Given the description of an element on the screen output the (x, y) to click on. 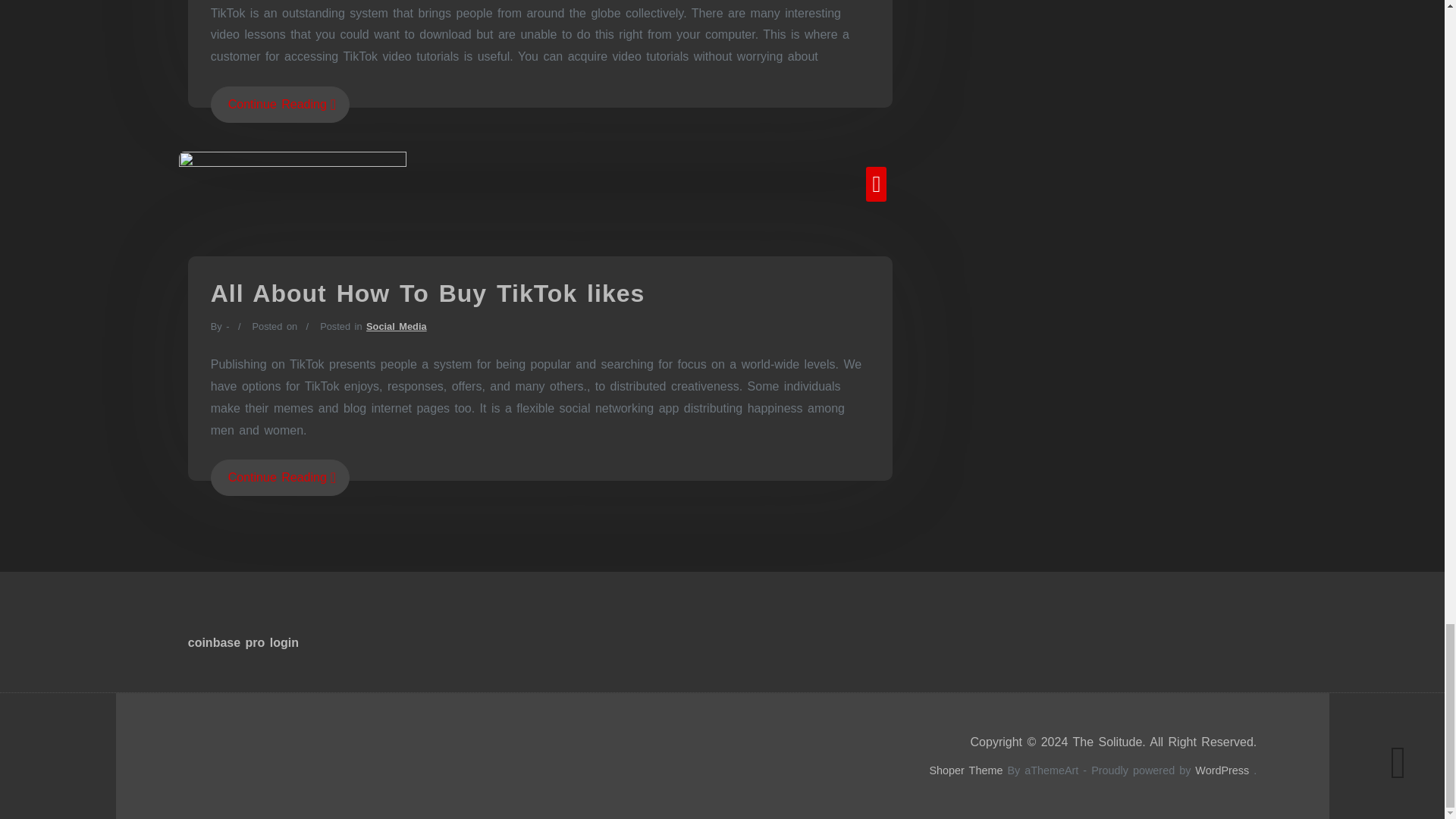
Continue Reading (280, 477)
Social Media (396, 326)
Continue Reading (280, 104)
All About How To Buy TikTok likes (428, 293)
